Given the description of an element on the screen output the (x, y) to click on. 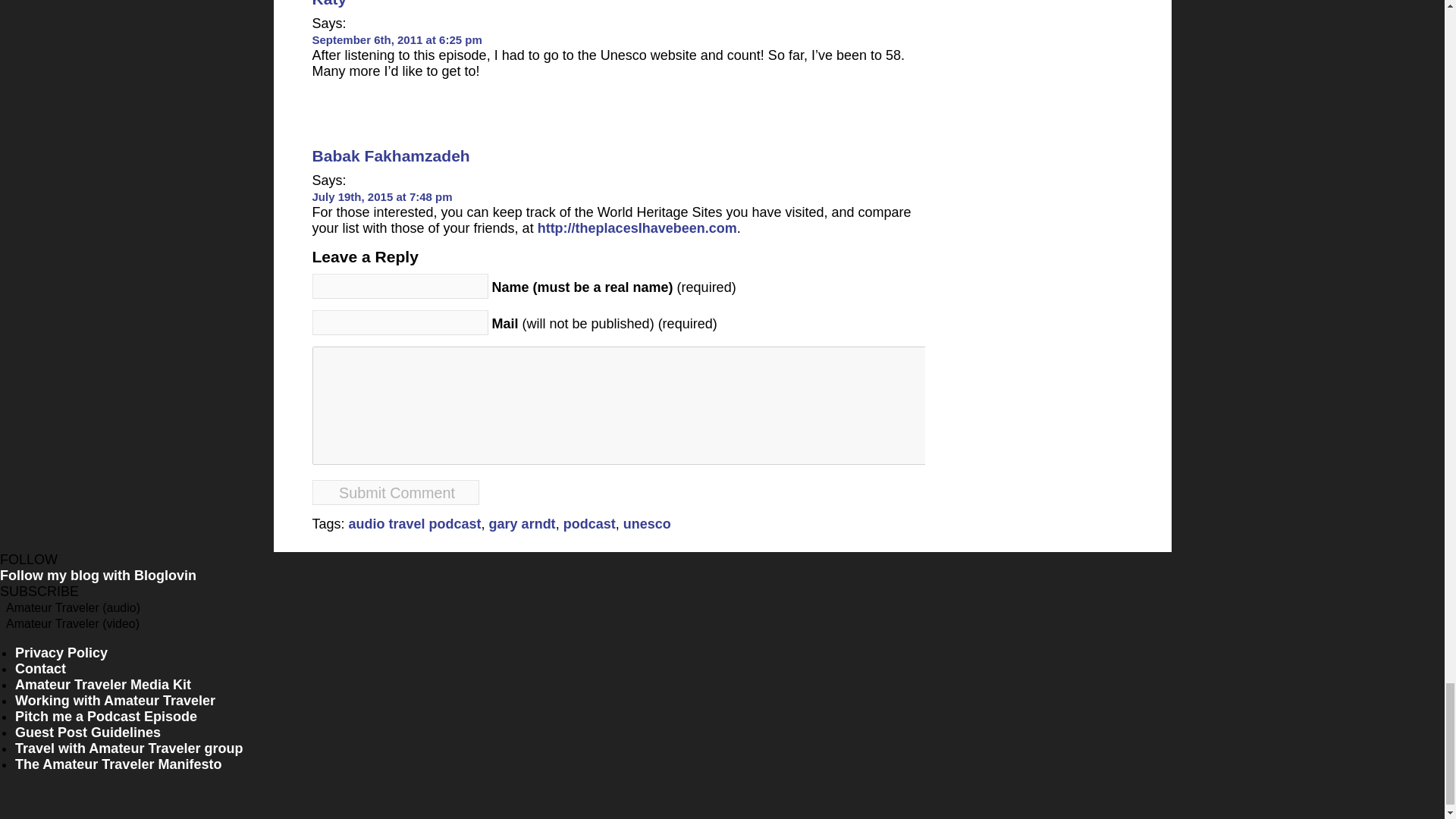
Submit Comment (396, 492)
